Given the description of an element on the screen output the (x, y) to click on. 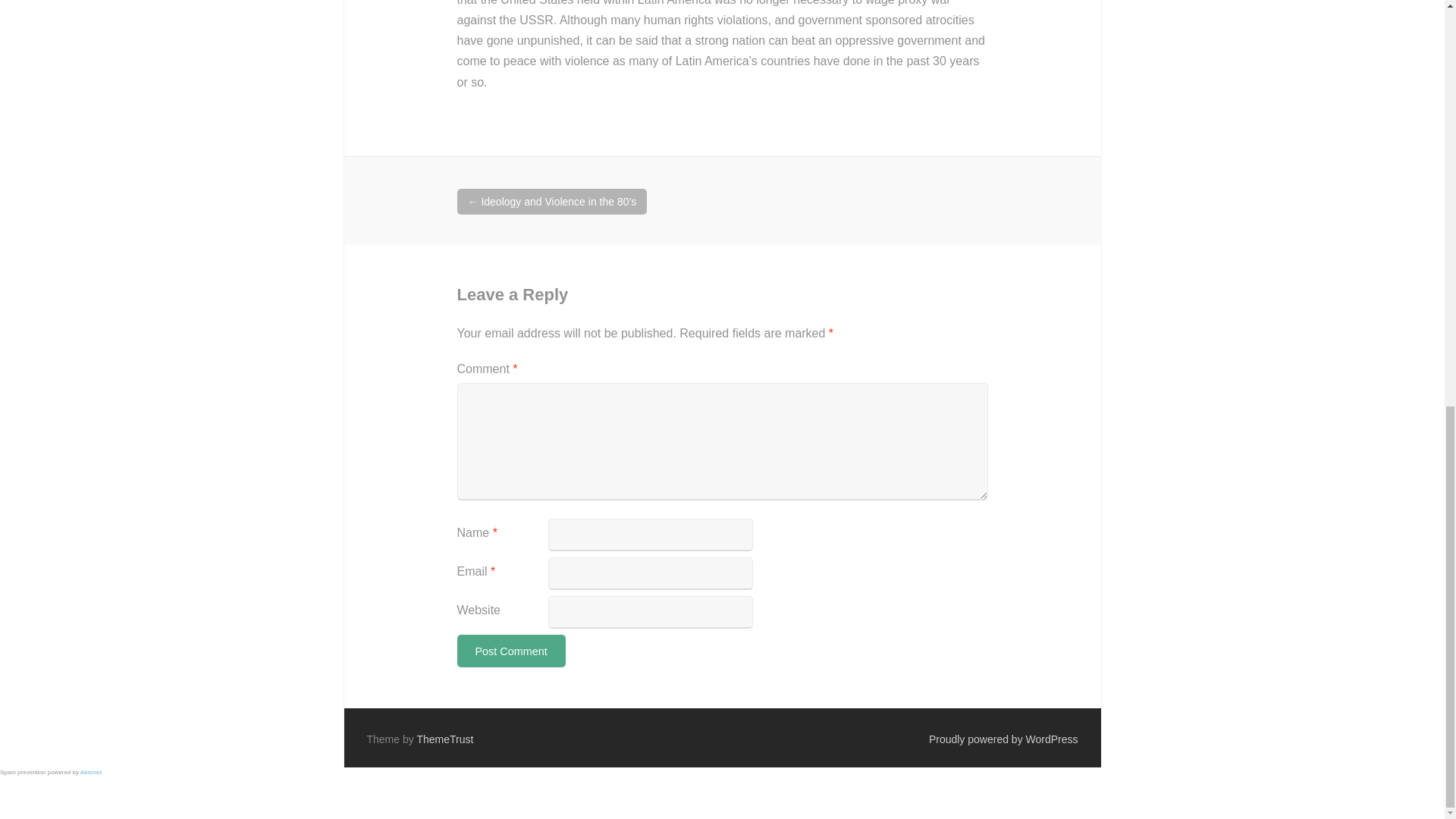
Akismet (90, 772)
Semantic Personal Publishing Platform (1003, 739)
Post Comment (510, 650)
Post Comment (510, 650)
ThemeTrust (444, 739)
ThemeTrust (444, 739)
Proudly powered by WordPress (1003, 739)
